Given the description of an element on the screen output the (x, y) to click on. 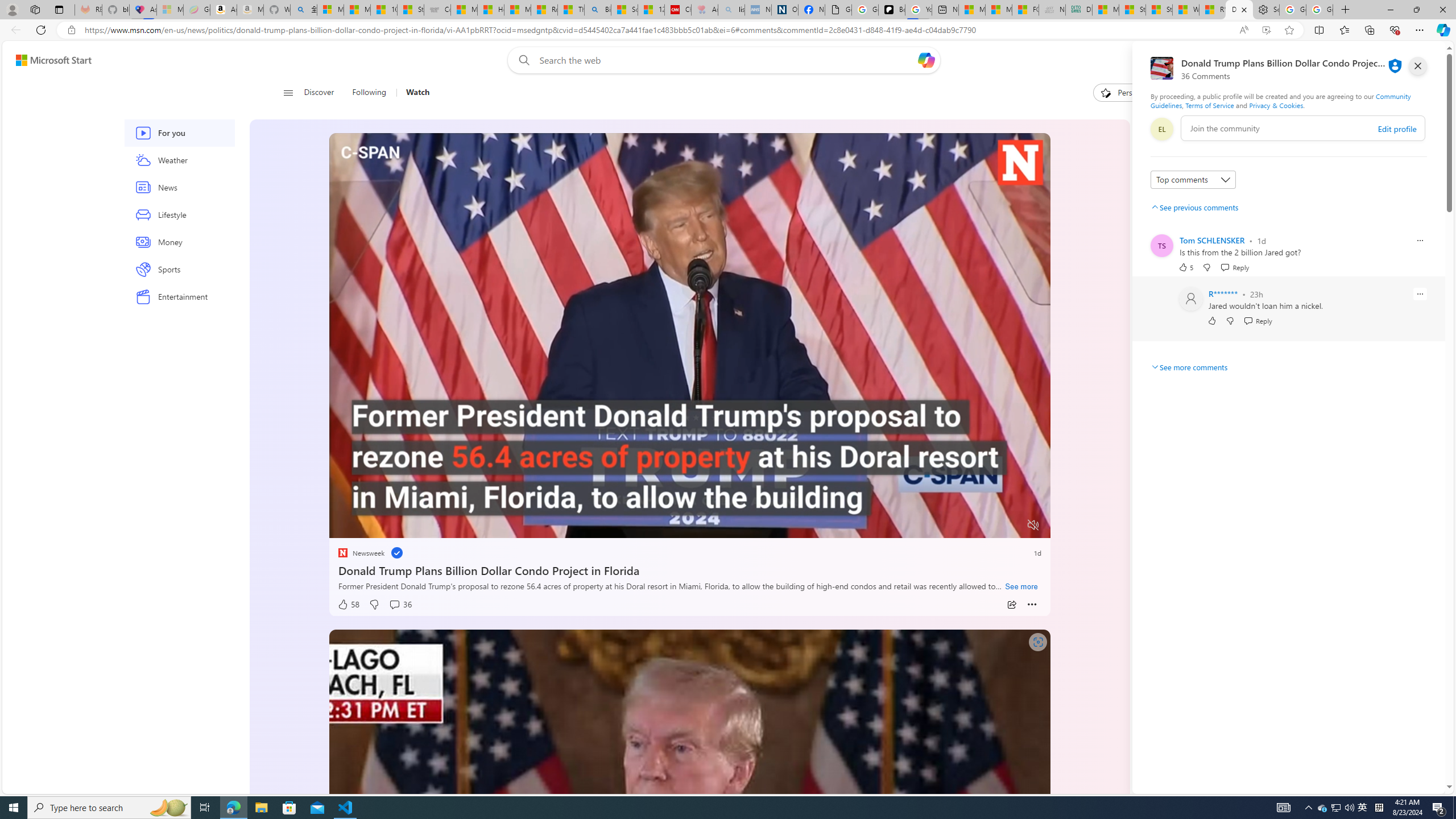
Unmute (1033, 524)
Quality Settings (964, 525)
More (1031, 604)
